Given the description of an element on the screen output the (x, y) to click on. 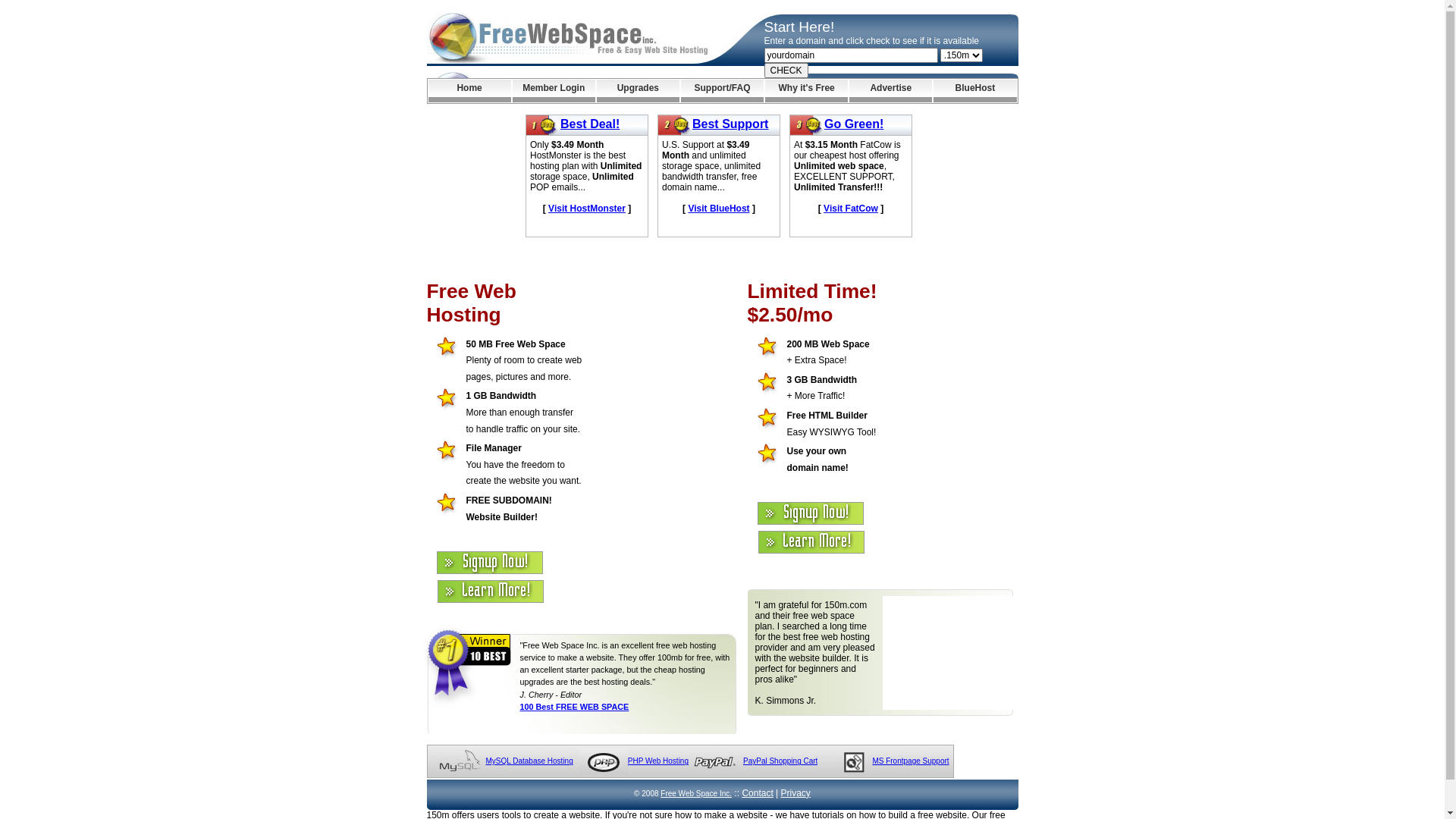
Privacy Element type: text (795, 792)
MS Frontpage Support Element type: text (910, 760)
Support/FAQ Element type: text (721, 90)
Free Web Space Inc. Element type: text (695, 793)
Upgrades Element type: text (637, 90)
Why it's Free Element type: text (806, 90)
BlueHost Element type: text (974, 90)
PHP Web Hosting Element type: text (657, 760)
PayPal Shopping Cart Element type: text (780, 760)
CHECK Element type: text (786, 70)
Member Login Element type: text (553, 90)
Advertise Element type: text (890, 90)
Home Element type: text (468, 90)
Contact Element type: text (756, 792)
100 Best FREE WEB SPACE Element type: text (574, 706)
MySQL Database Hosting Element type: text (528, 760)
